Given the description of an element on the screen output the (x, y) to click on. 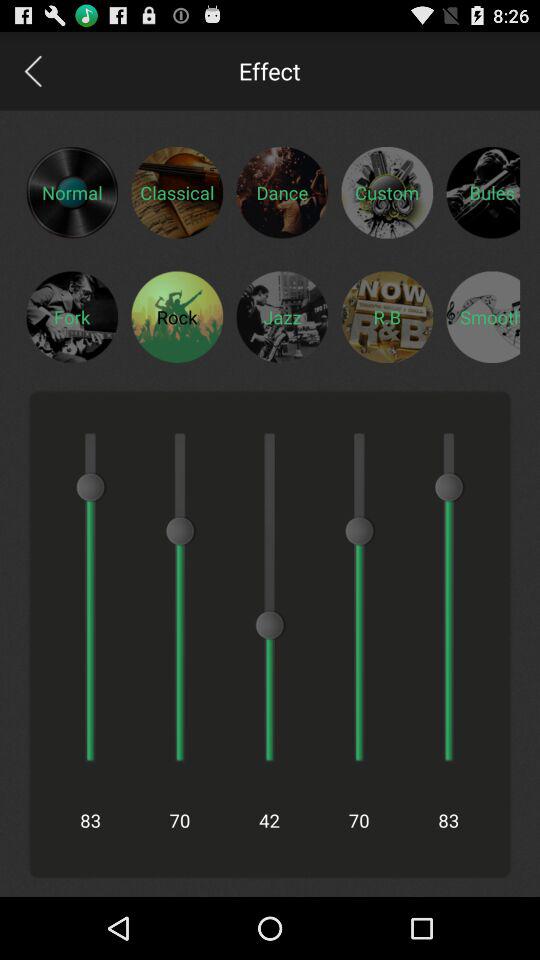
select option (483, 316)
